Given the description of an element on the screen output the (x, y) to click on. 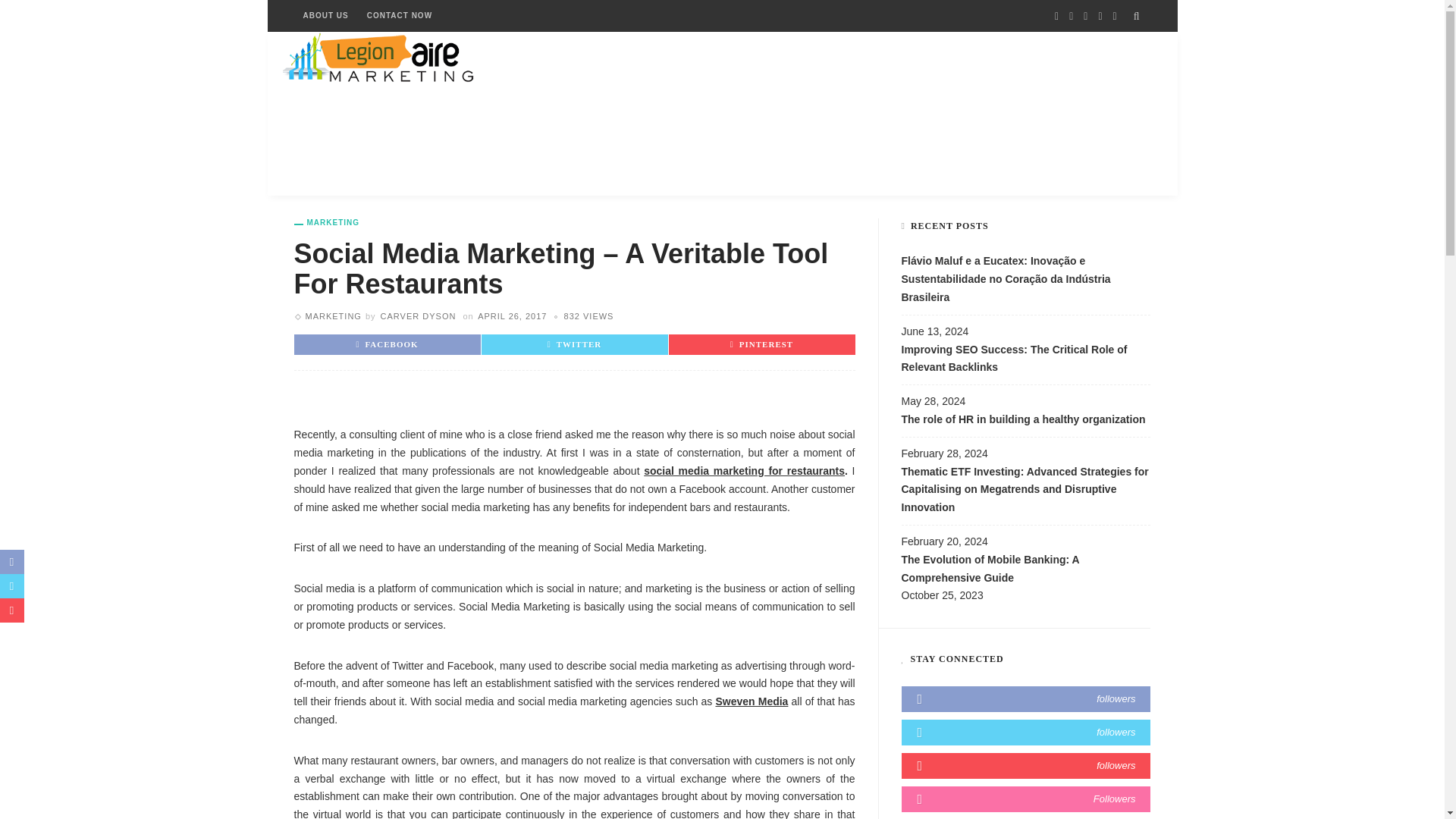
ABOUT US (326, 15)
MARKETING (871, 113)
834 VIEWS (589, 316)
MARKETING (332, 316)
PRODUCATION (976, 113)
INVESTMENT (659, 113)
Marketing (332, 316)
PINTEREST (761, 343)
BUSINESS EXPERTS (539, 113)
ADVERTISING (335, 113)
FACEBOOK (386, 343)
BUSINESS (430, 113)
CONTACT NOW (399, 15)
TWITTER (574, 343)
CARVER DYSON (418, 316)
